Given the description of an element on the screen output the (x, y) to click on. 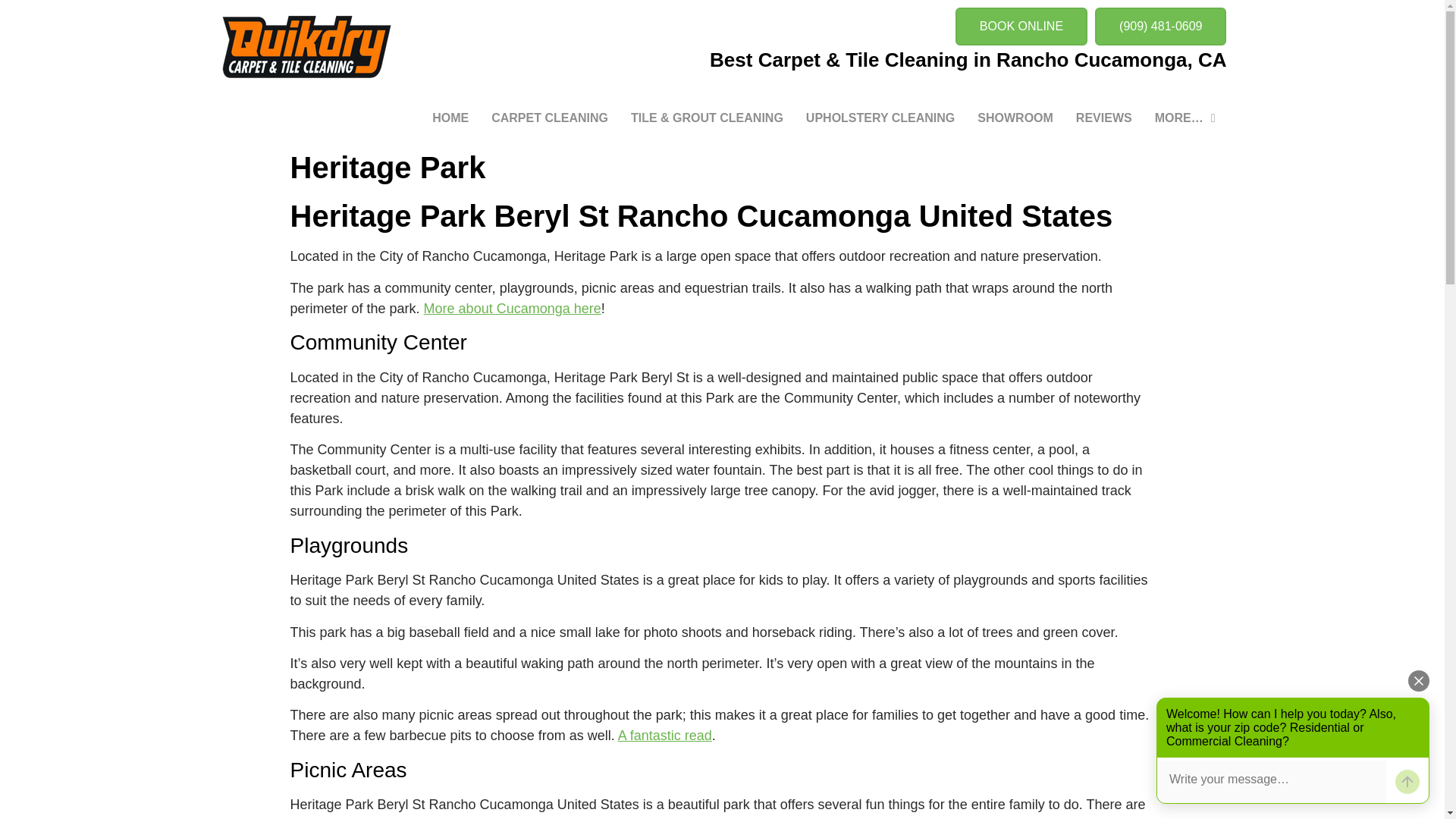
REVIEWS (1103, 117)
CARPET CLEANING (550, 117)
BOOK ONLINE (1021, 26)
HOME (450, 117)
SHOWROOM (1015, 117)
UPHOLSTERY CLEANING (880, 117)
